Given the description of an element on the screen output the (x, y) to click on. 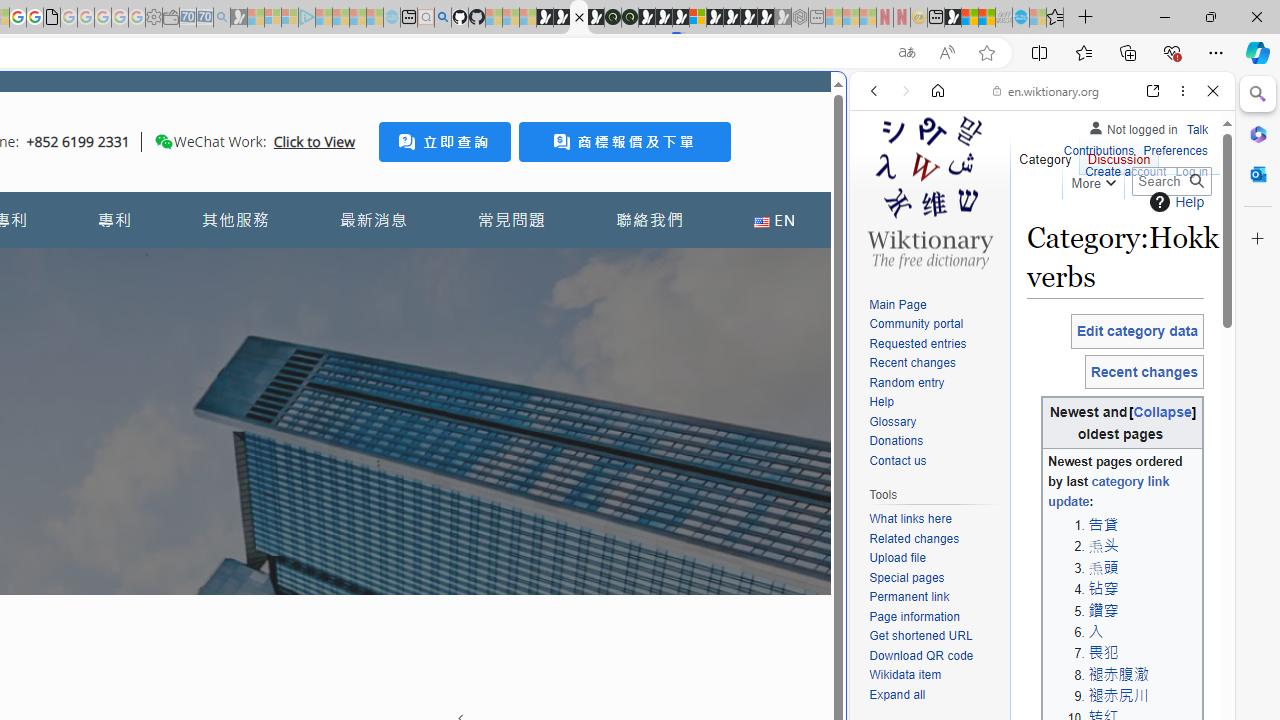
Glossary (934, 421)
Related changes (934, 539)
Create account (1125, 172)
Not logged in (1132, 126)
Requested entries (934, 344)
Wikidata item (934, 676)
Related changes (914, 538)
